Given the description of an element on the screen output the (x, y) to click on. 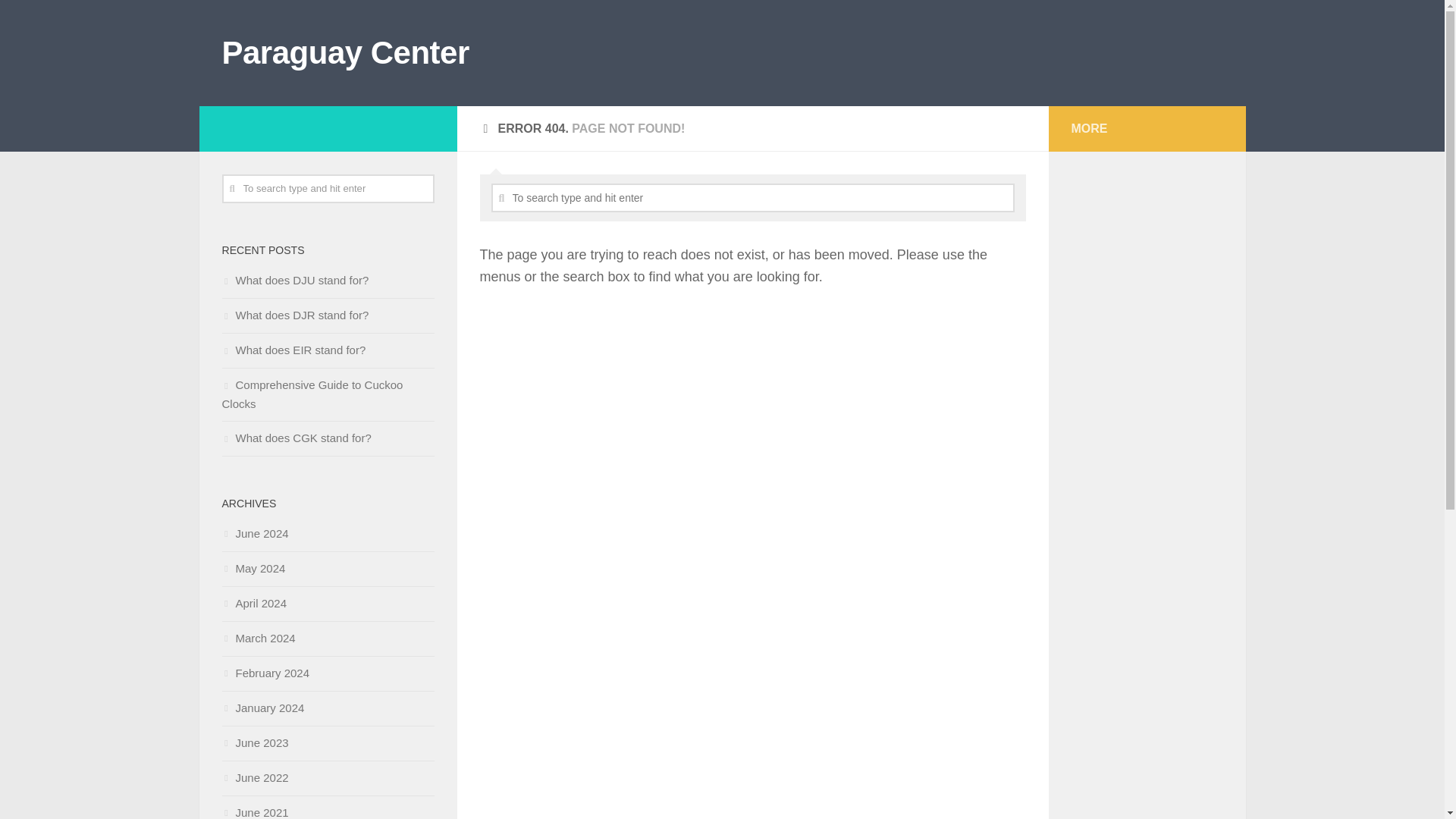
January 2024 (262, 707)
What does DJU stand for? (294, 279)
June 2023 (254, 742)
What does DJR stand for? (294, 314)
What does EIR stand for? (293, 349)
May 2024 (253, 567)
To search type and hit enter (753, 197)
June 2021 (254, 812)
June 2024 (254, 533)
February 2024 (264, 672)
